Given the description of an element on the screen output the (x, y) to click on. 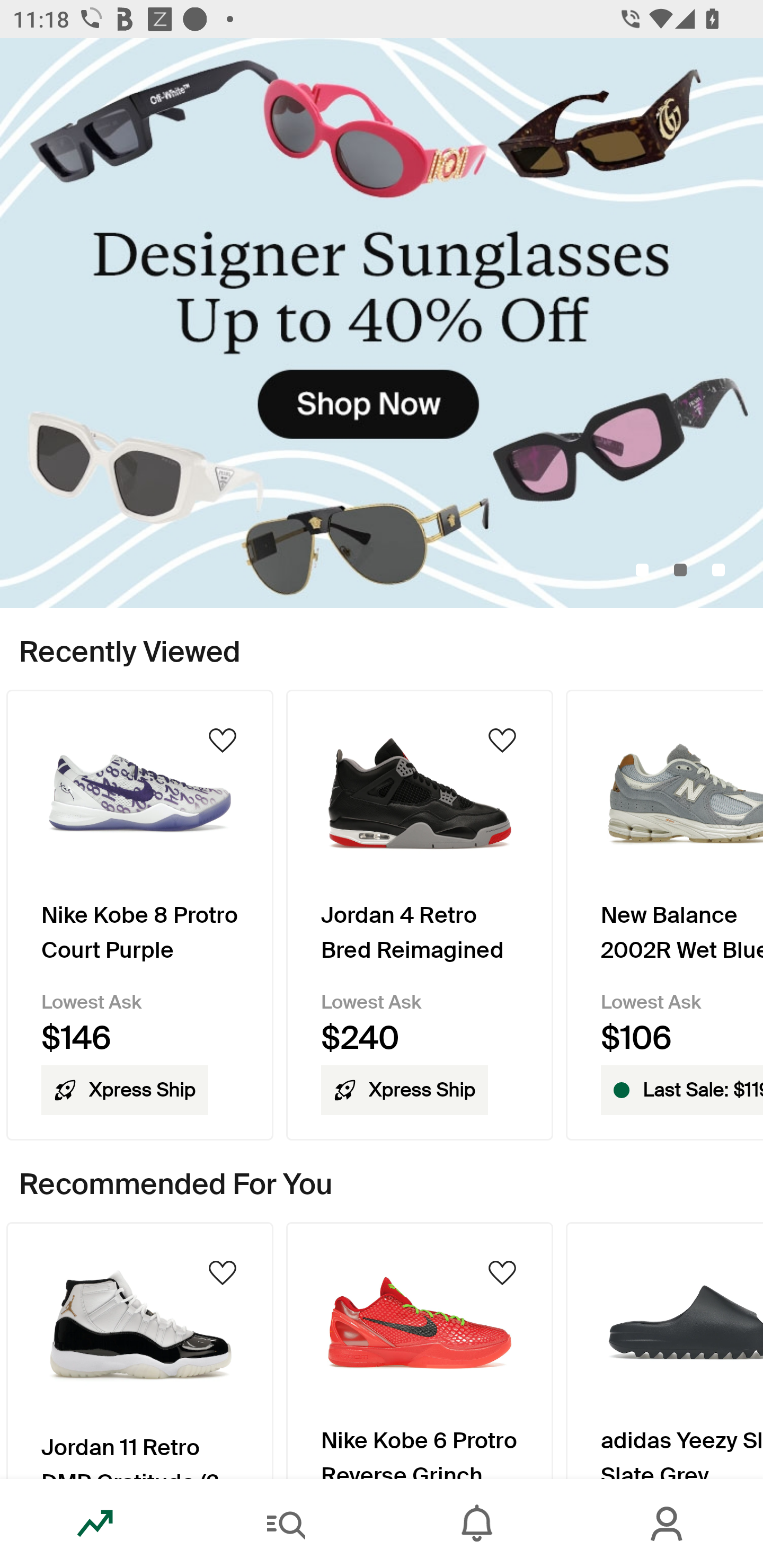
DesignerSunglassesUpto40_Off_Primary_Mobile.jpg (381, 322)
Product Image Jordan 11 Retro DMP Gratitude (2023) (139, 1349)
Product Image Nike Kobe 6 Protro Reverse Grinch (419, 1349)
Product Image adidas Yeezy Slide Slate Grey (664, 1349)
Search (285, 1523)
Inbox (476, 1523)
Account (667, 1523)
